Given the description of an element on the screen output the (x, y) to click on. 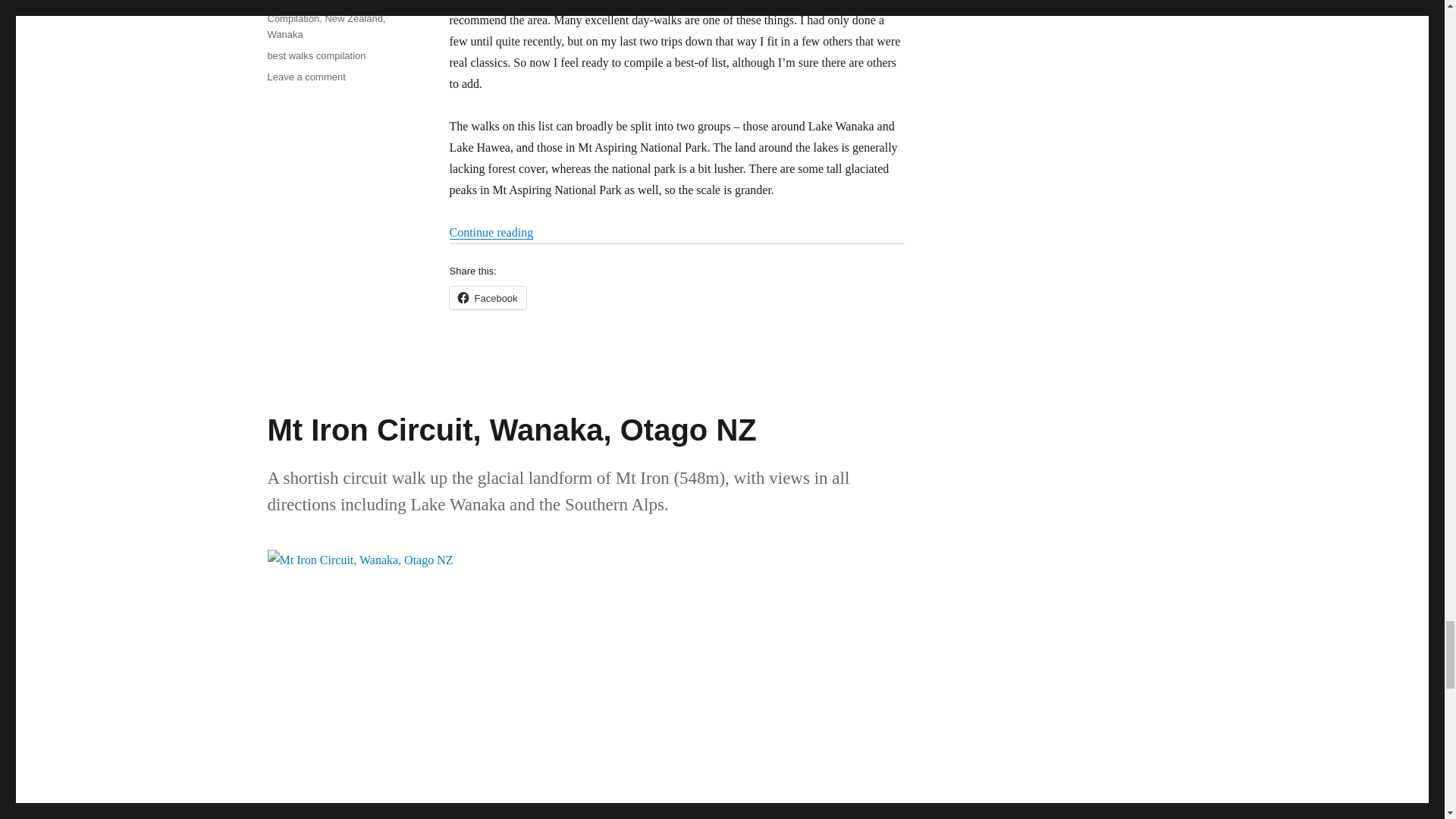
Click to share on Facebook (486, 297)
